Given the description of an element on the screen output the (x, y) to click on. 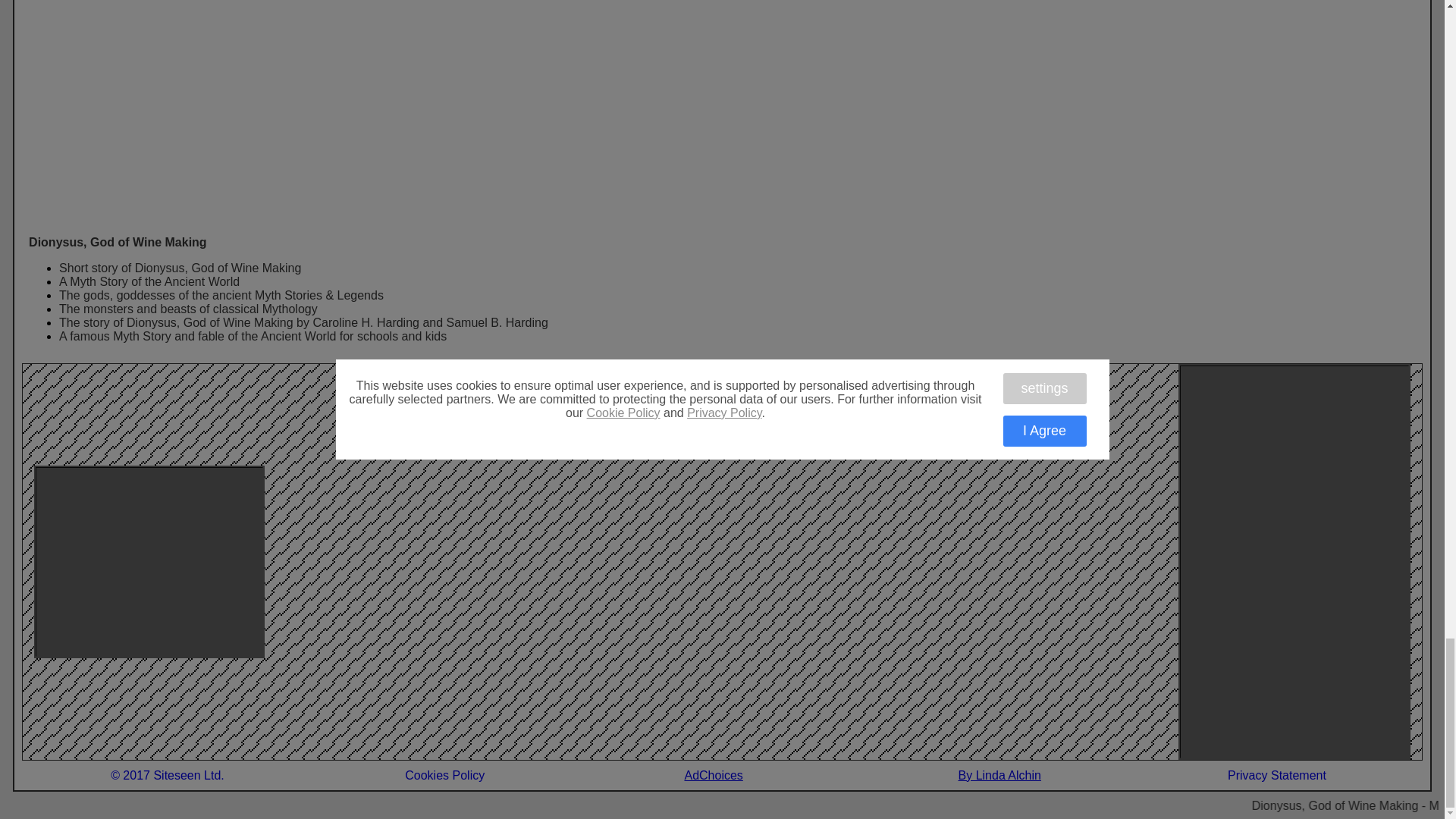
Privacy Statement (1276, 775)
By Linda Alchin (999, 775)
Cookies Policy (444, 775)
AdChoices (722, 775)
